Given the description of an element on the screen output the (x, y) to click on. 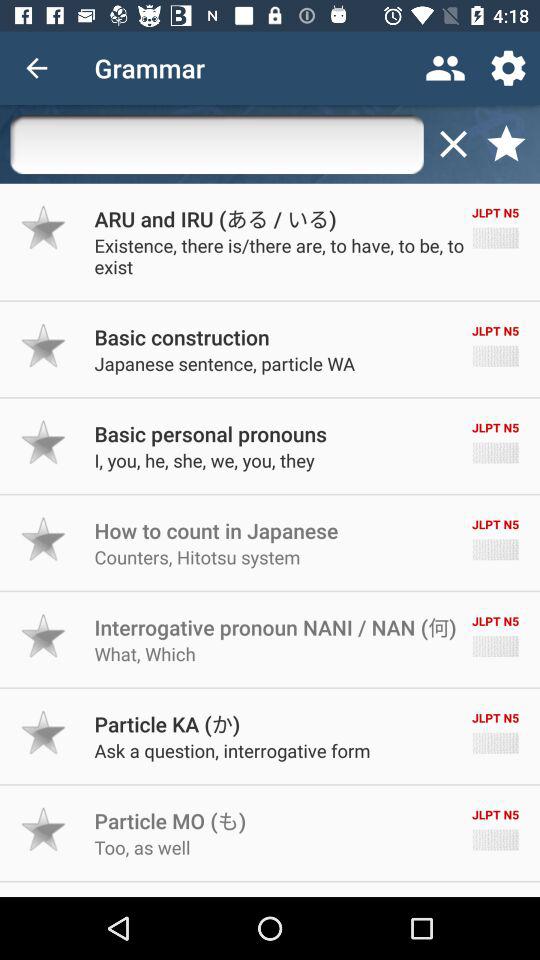
mark as favorite (44, 732)
